Given the description of an element on the screen output the (x, y) to click on. 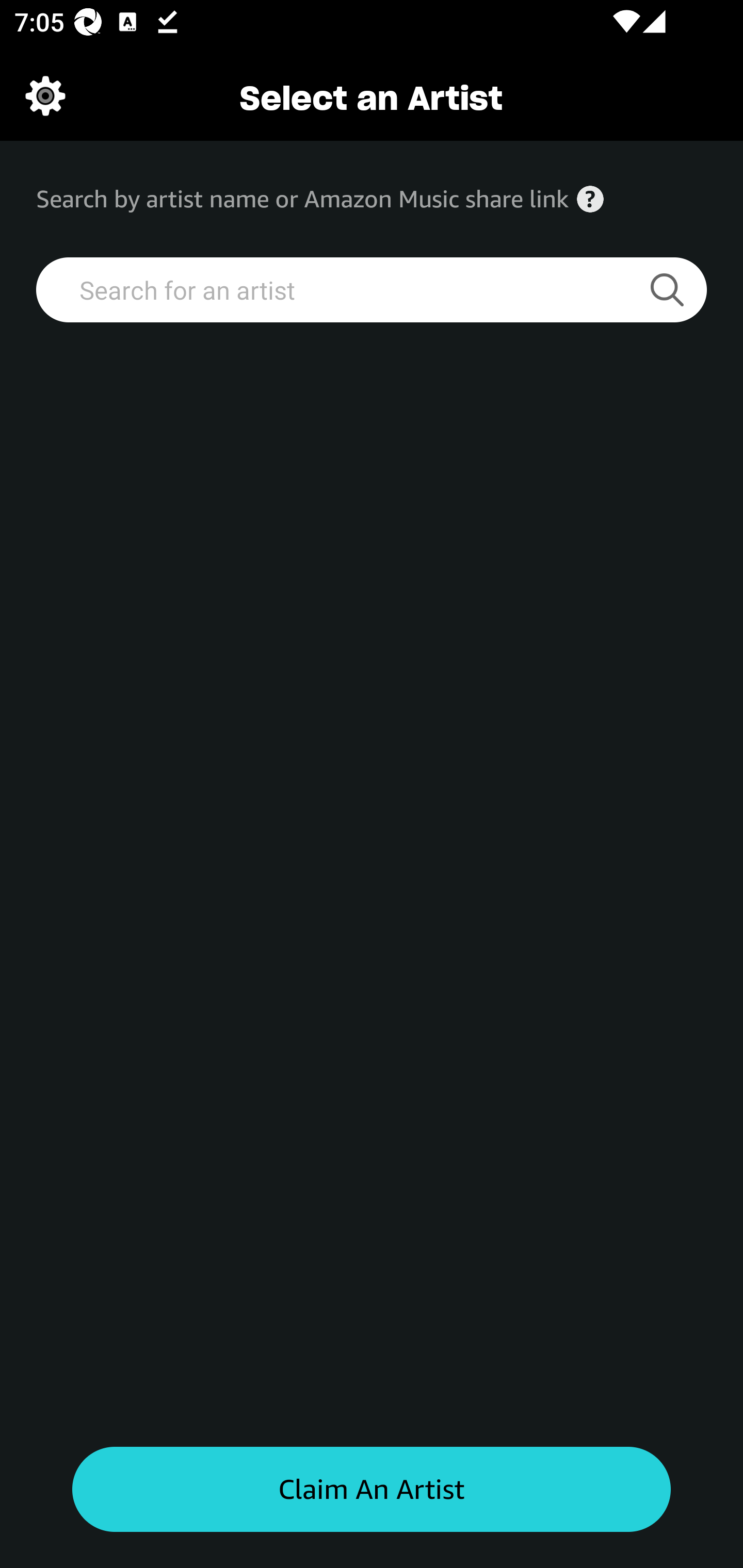
Help  icon (589, 199)
Claim an artist button Claim An Artist (371, 1489)
